Given the description of an element on the screen output the (x, y) to click on. 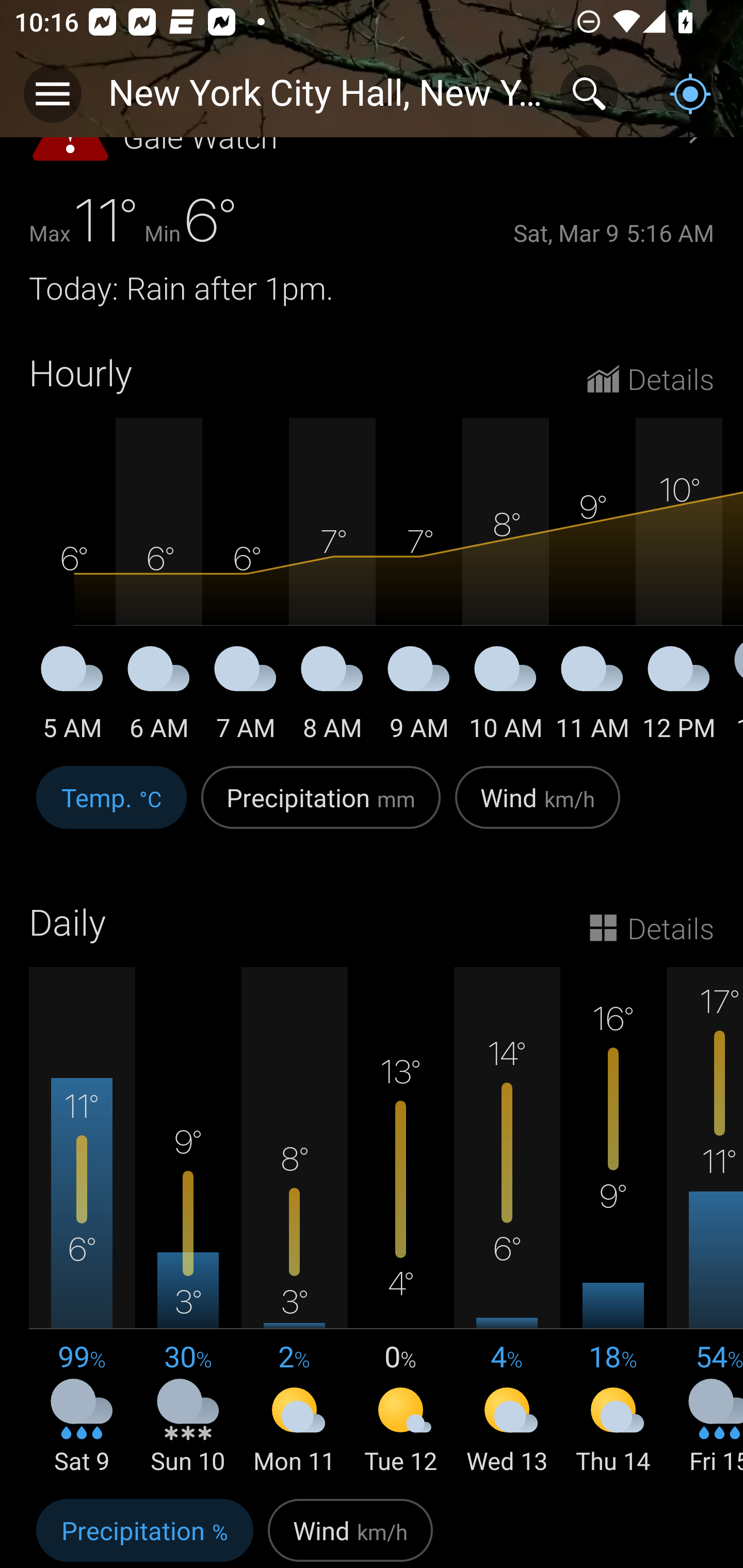
5 AM 6 AM 7 AM 8 AM 9 AM 10 AM 11 AM 12 PM 1 PM (371, 580)
5 AM (71, 696)
6 AM (158, 696)
7 AM (245, 696)
8 AM (332, 696)
9 AM (418, 696)
10 AM (505, 696)
11 AM (592, 696)
12 PM (679, 696)
Temp. °C (110, 807)
Precipitation mm (320, 807)
Wind km/h (537, 807)
11° 6° 99 % Sat 9 (81, 1222)
9° 3° 30 % Sun 10 (188, 1222)
8° 3° 2 % Mon 11 (294, 1222)
13° 4° 0 % Tue 12 (400, 1222)
14° 6° 4 % Wed 13 (506, 1222)
16° 9° 18 % Thu 14 (613, 1222)
17° 11° 54 % Fri 15 (704, 1222)
Precipitation % (144, 1529)
Wind km/h (349, 1529)
